Given the description of an element on the screen output the (x, y) to click on. 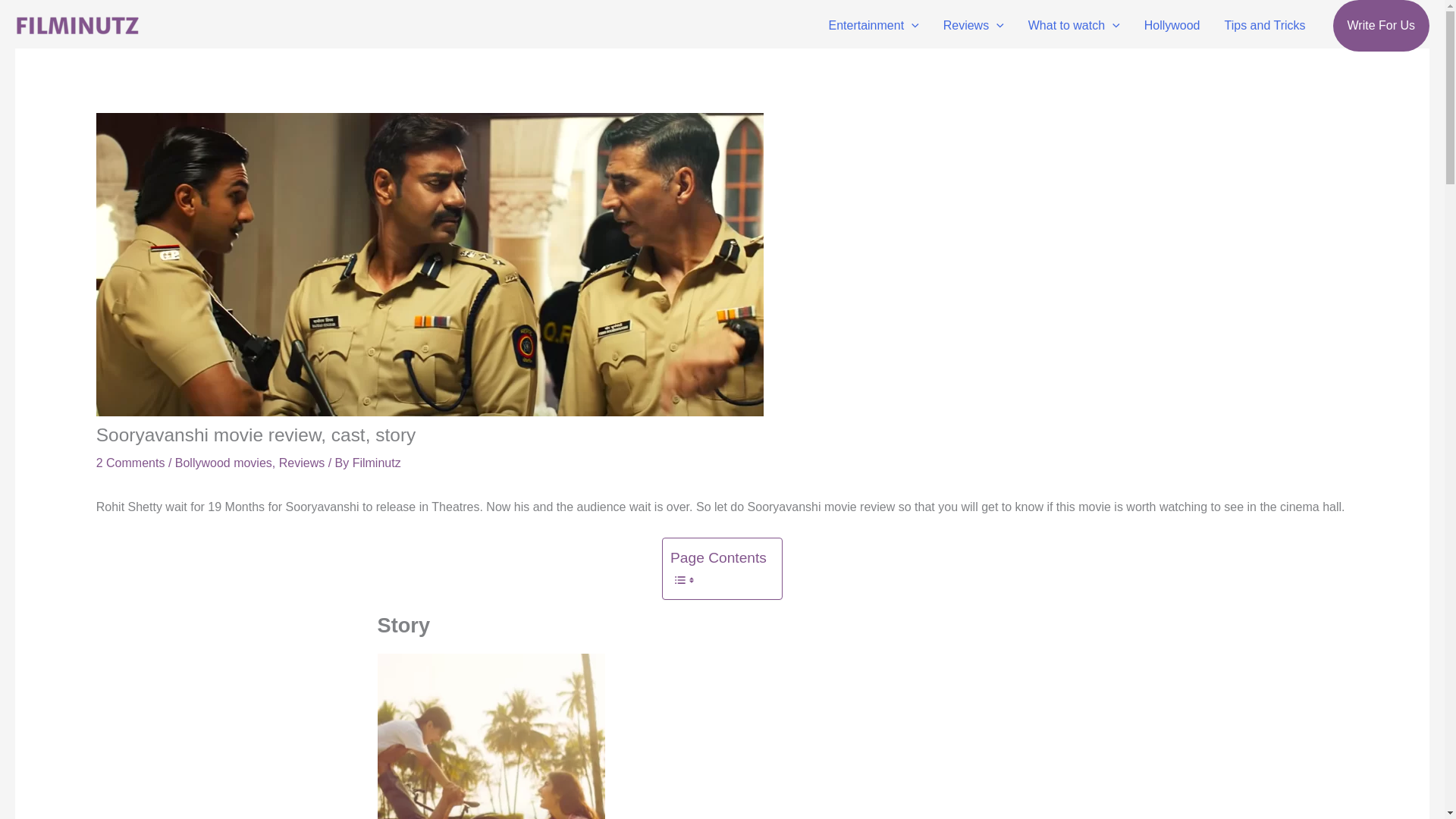
Tips and Tricks (1264, 25)
What to watch (1074, 25)
Entertainment (872, 25)
Filminutz (376, 462)
Hollywood (1172, 25)
2 Comments (130, 462)
Reviews (973, 25)
Bollywood movies (223, 462)
Reviews (301, 462)
View all posts by Filminutz (376, 462)
